Given the description of an element on the screen output the (x, y) to click on. 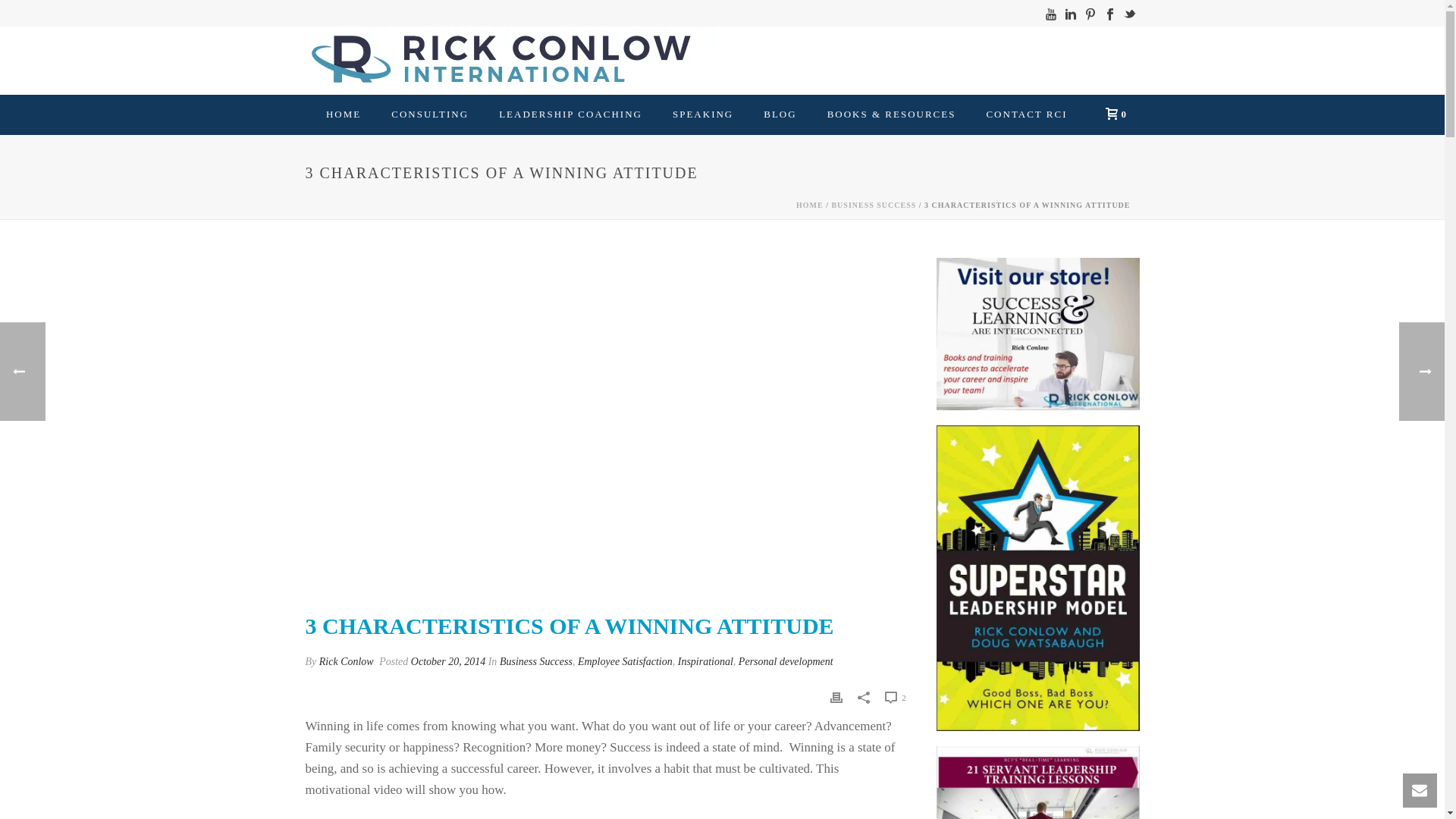
BUSINESS SUCCESS (873, 204)
BLOG (779, 115)
Posts by Rick Conlow (346, 661)
CONSULTING (429, 115)
HOME (343, 115)
SPEAKING (703, 115)
October 20, 2014 (447, 661)
0 (1112, 113)
CONTACT RCI (1026, 115)
LEADERSHIP COACHING (570, 115)
Rick Conlow (346, 661)
HOME (343, 115)
Rick Conlow International Store (1038, 333)
LEADERSHIP COACHING (570, 115)
Business Success (535, 661)
